Given the description of an element on the screen output the (x, y) to click on. 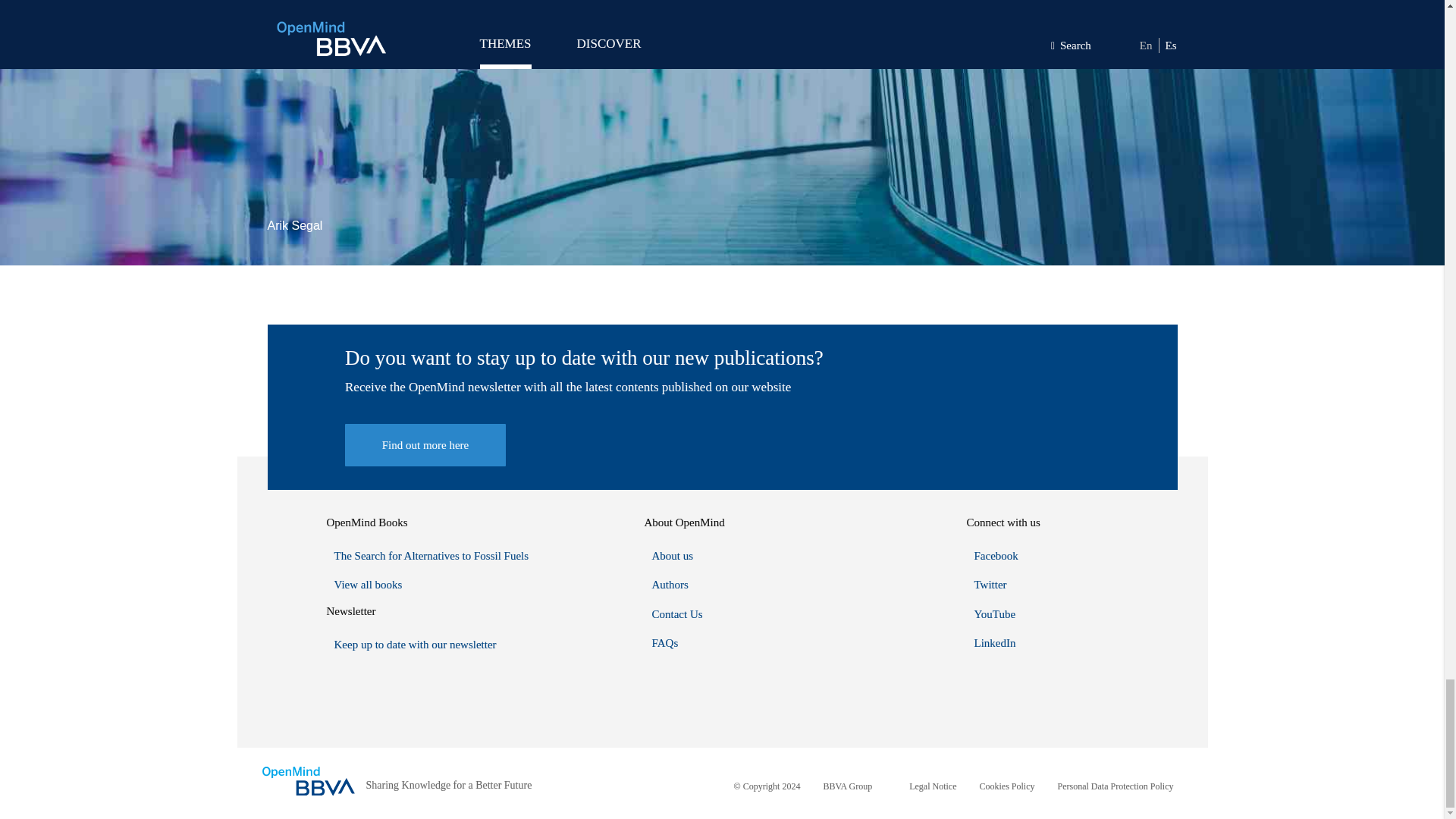
BBVA Group (847, 786)
Cookies Policy (1007, 786)
Personal Data Protection Policy (1115, 786)
Legal Notice (932, 786)
